Given the description of an element on the screen output the (x, y) to click on. 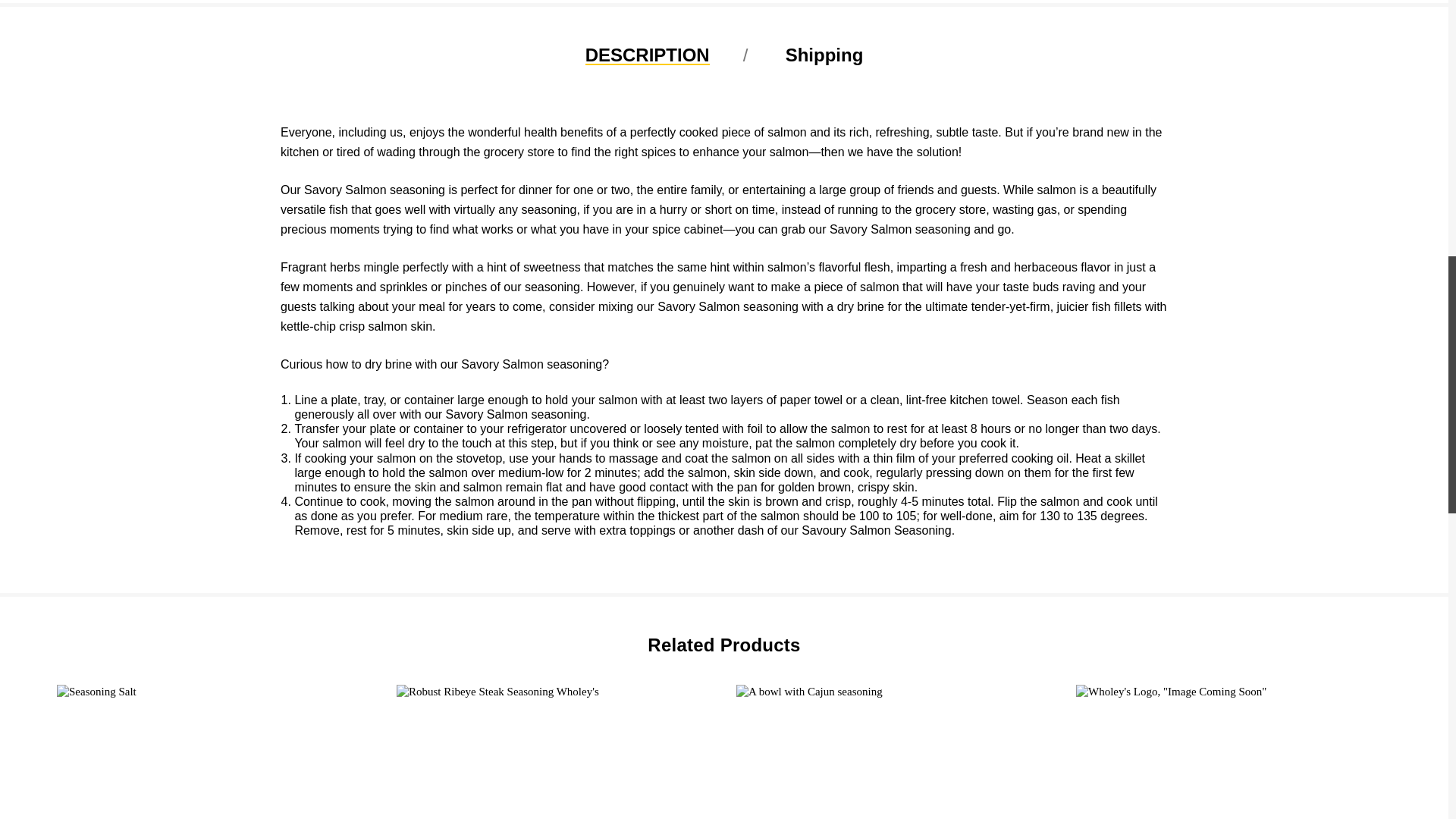
Wholey's Logo, "Image Coming Soon" (1234, 751)
Seasoning Salt (215, 751)
A bowl with Cajun seasoning (894, 751)
Robust Ribeye Steak Seasoning Wholey's (554, 751)
